Given the description of an element on the screen output the (x, y) to click on. 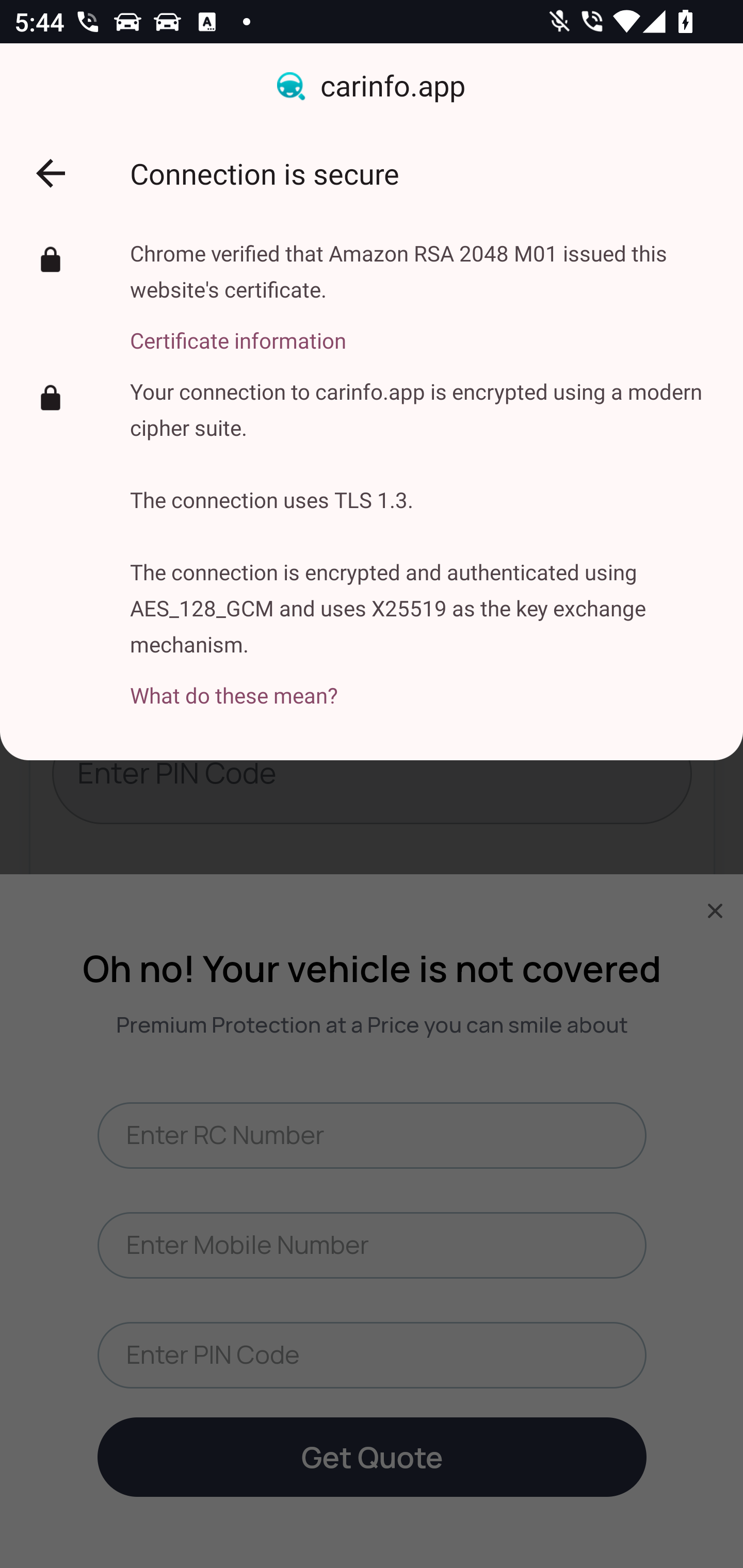
carinfo.app (371, 86)
Back (50, 173)
Certificate information (422, 329)
What do these mean? (422, 684)
